Given the description of an element on the screen output the (x, y) to click on. 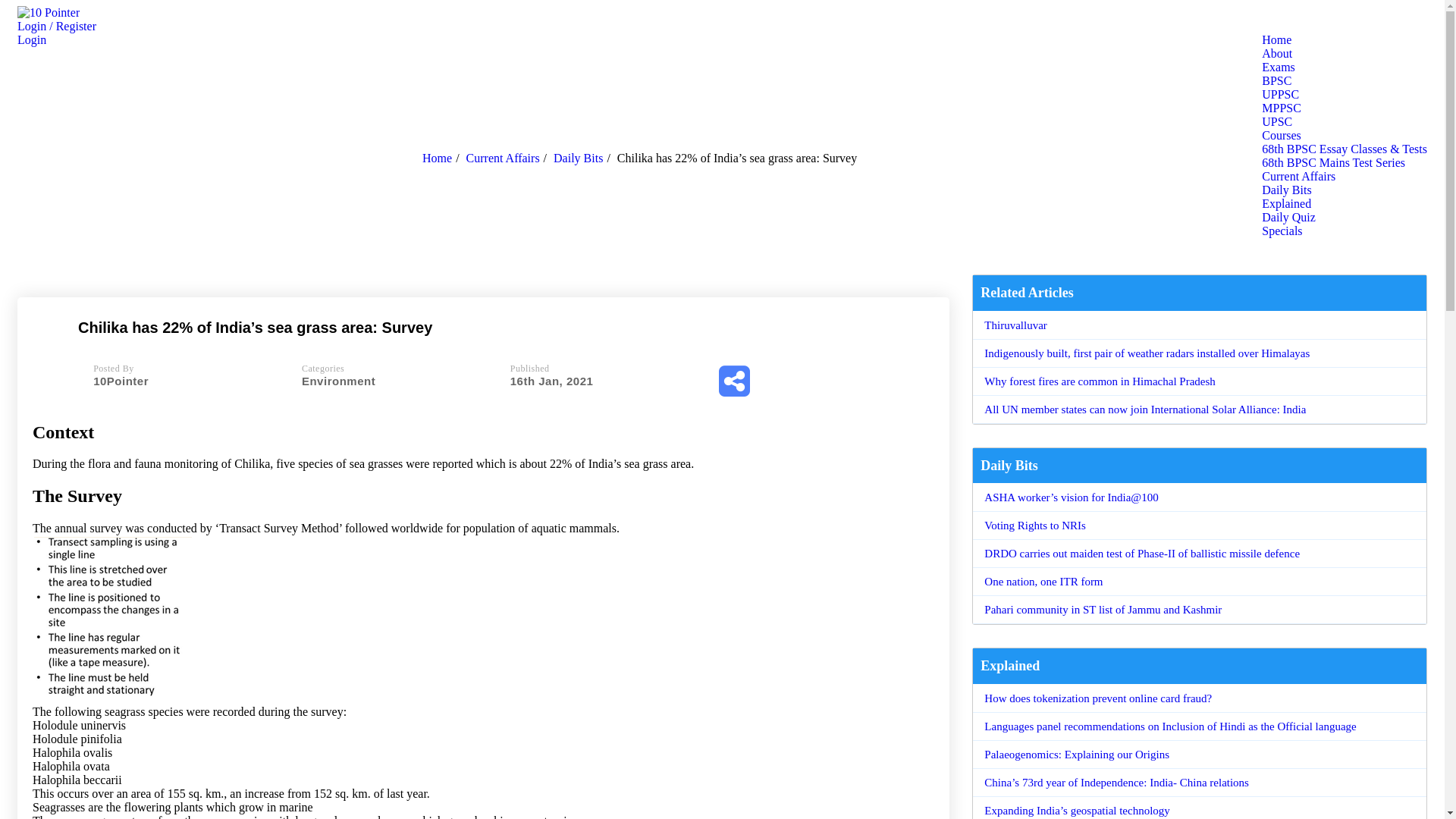
Home Element type: text (442, 157)
Explained Element type: text (1286, 203)
Daily Bits Element type: text (583, 157)
Exams Element type: text (1278, 66)
68th BPSC Mains Test Series Element type: text (1333, 162)
Login / Register Element type: text (56, 25)
How does tokenization prevent online card fraud? Element type: text (1097, 698)
Why forest fires are common in Himachal Pradesh Element type: text (1099, 381)
One nation, one ITR form Element type: text (1043, 581)
About Element type: text (1276, 53)
Voting Rights to NRIs Element type: text (1034, 525)
Daily Bits Element type: text (1286, 189)
MPPSC Element type: text (1281, 107)
BPSC Element type: text (1276, 80)
Pahari community in ST list of Jammu and Kashmir Element type: text (1102, 609)
Current Affairs Element type: text (508, 157)
Specials Element type: text (1281, 230)
Palaeogenomics: Explaining our Origins Element type: text (1076, 754)
Home Element type: text (1276, 39)
68th BPSC Essay Classes & Tests Element type: text (1344, 148)
UPSC Element type: text (1276, 121)
Daily Quiz Element type: text (1288, 216)
Login Element type: text (31, 39)
Current Affairs Element type: text (1298, 175)
UPPSC Element type: text (1280, 93)
Courses Element type: text (1281, 134)
Thiruvalluvar Element type: text (1015, 325)
